Given the description of an element on the screen output the (x, y) to click on. 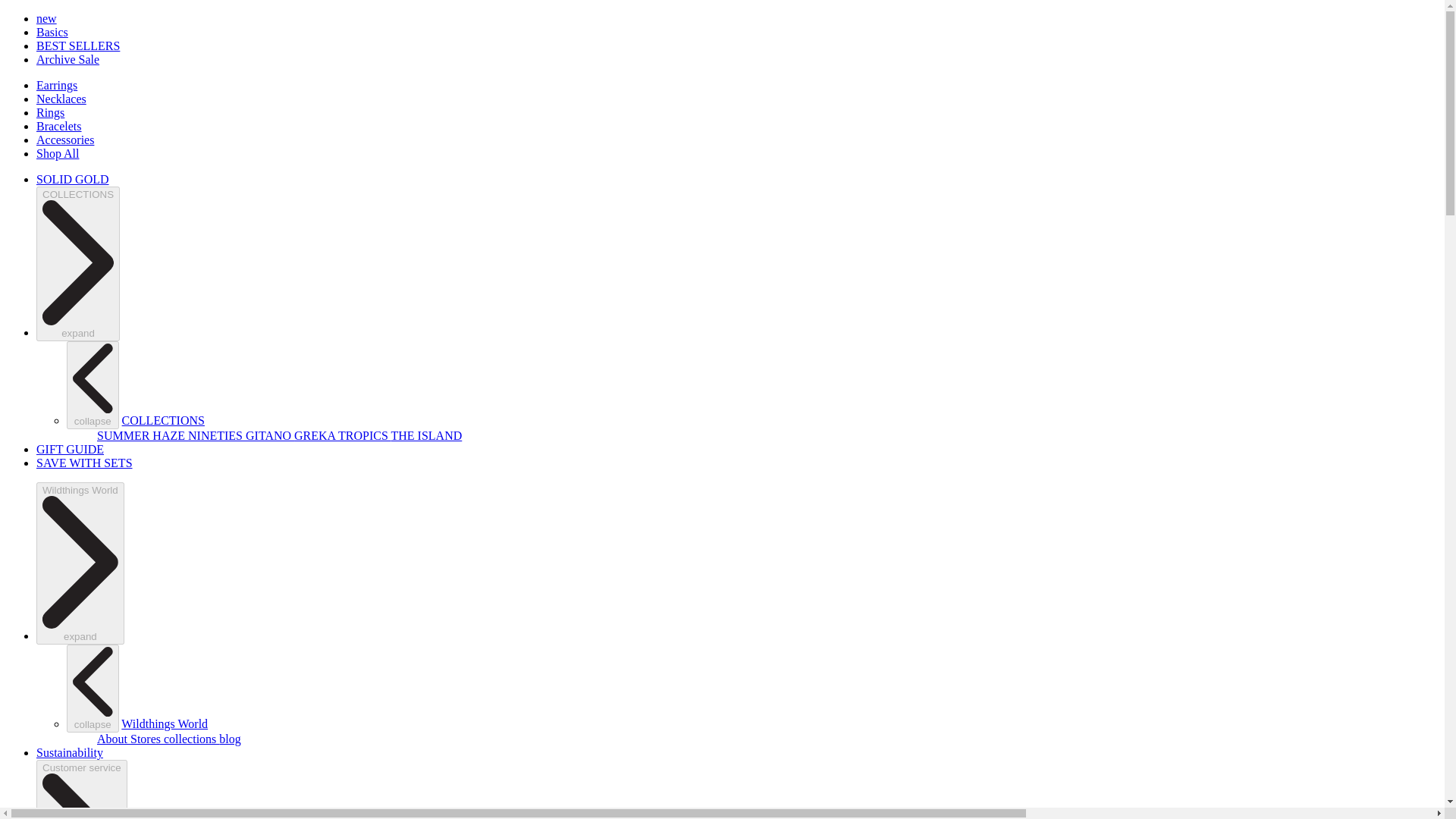
Stores (147, 738)
Accessories (65, 139)
blog (229, 738)
About (114, 738)
COLLECTIONS (163, 420)
GREKA (315, 435)
GIFT GUIDE (69, 449)
Rings (50, 112)
THE ISLAND (427, 435)
GITANO (270, 435)
BEST SELLERS (77, 45)
Wildthings World (164, 723)
Necklaces (60, 98)
SUMMER HAZE (142, 435)
Sustainability (69, 752)
